Given the description of an element on the screen output the (x, y) to click on. 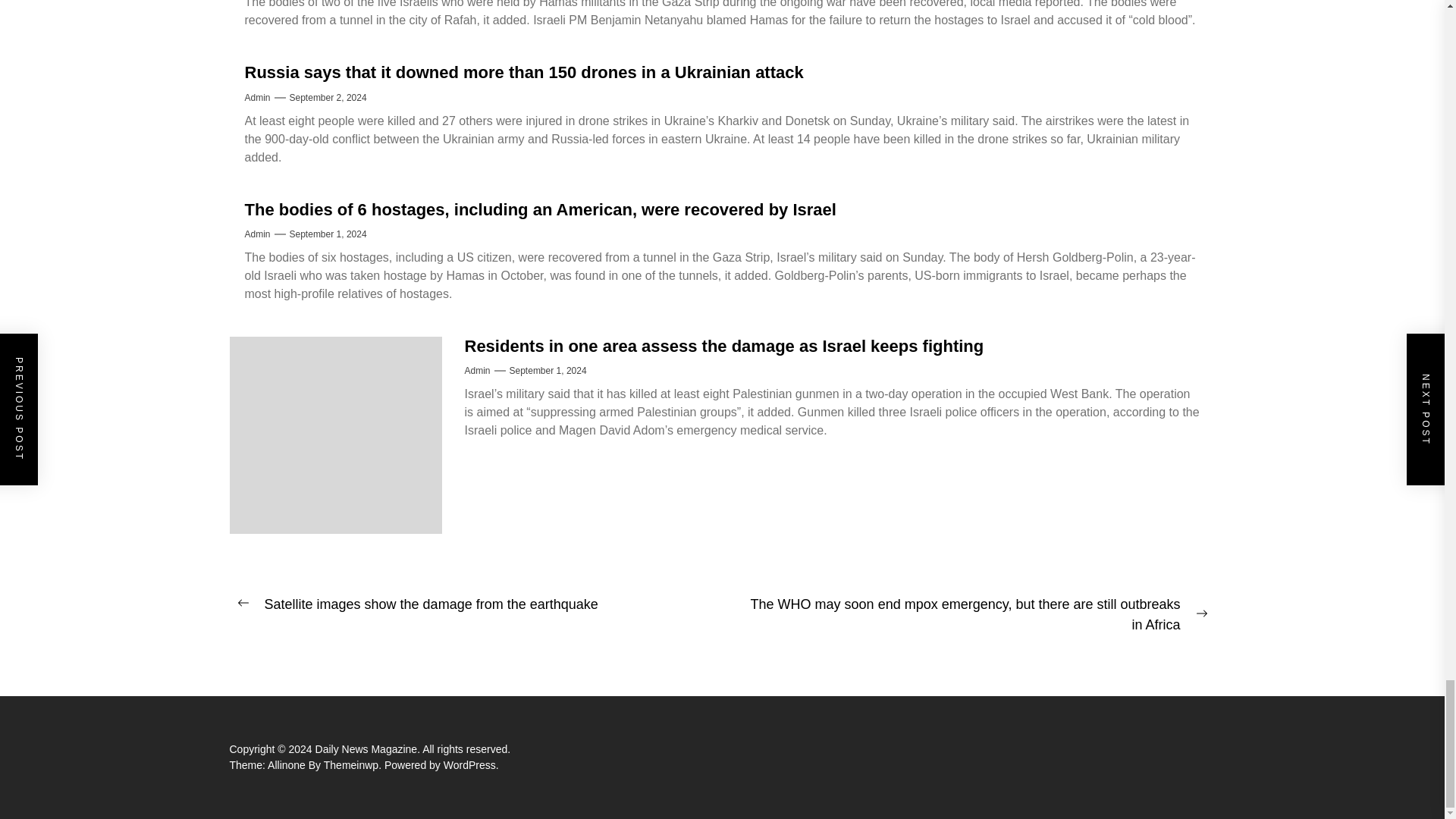
Themeinwp (353, 765)
WordPress (471, 765)
Daily News Magazine (369, 748)
